Given the description of an element on the screen output the (x, y) to click on. 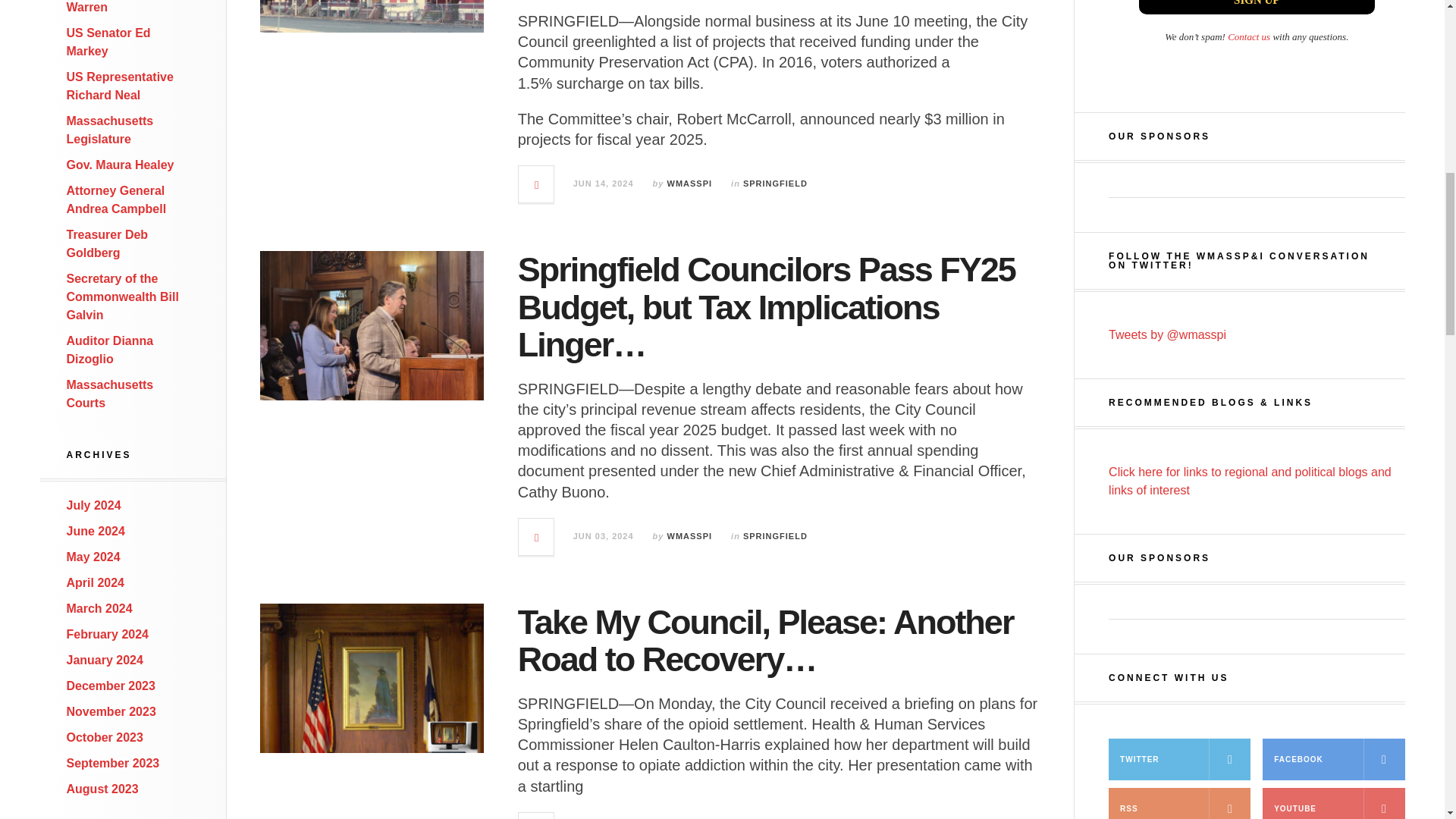
Gov. Maura Healey (120, 164)
Secretary of the Commonwealth Bill Galvin (122, 296)
US Senator Elizabeth Warren (127, 6)
Sign up (1256, 7)
US Representative Richard Neal (119, 85)
Massachusetts Courts (110, 393)
Posts by wmasspi (689, 183)
Auditor Dianna Dizoglio (110, 349)
View all posts in Springfield (775, 183)
Treasurer Deb Goldberg (107, 243)
Attorney General Andrea Campbell (116, 199)
June 2024 (95, 530)
Massachusetts Legislature (110, 129)
US Senator Ed Markey (108, 41)
July 2024 (93, 504)
